Given the description of an element on the screen output the (x, y) to click on. 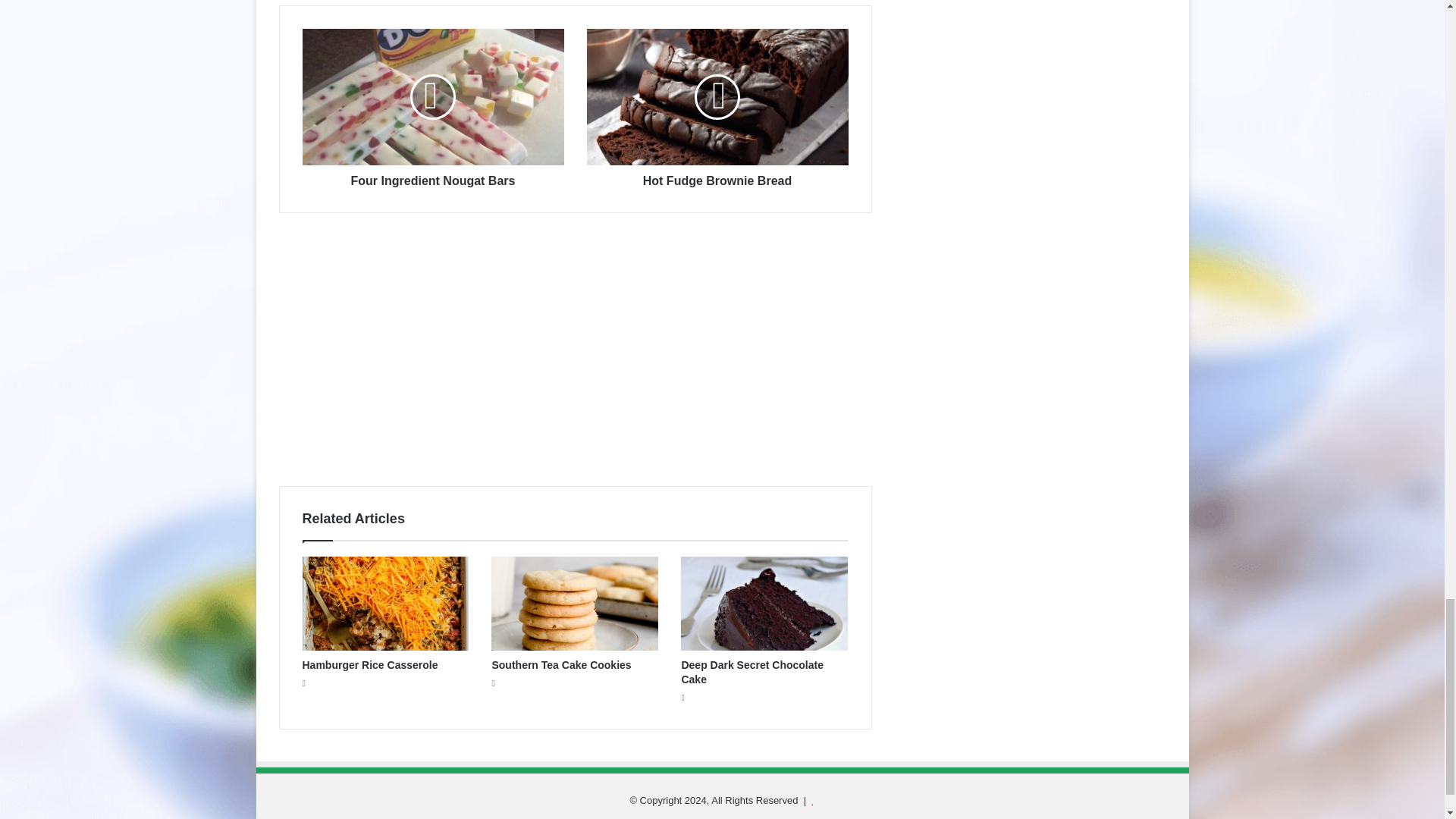
Deep Dark Secret Chocolate Cake (752, 672)
Facebook (694, 817)
YouTube (730, 817)
Four Ingredient Nougat Bars (432, 177)
X (712, 817)
Four Ingredient Nougat Bars (432, 96)
Advertisement (575, 356)
Hot Fudge Brownie Bread (717, 96)
Hot Fudge Brownie Bread (717, 177)
Southern Tea Cake Cookies (561, 664)
